Given the description of an element on the screen output the (x, y) to click on. 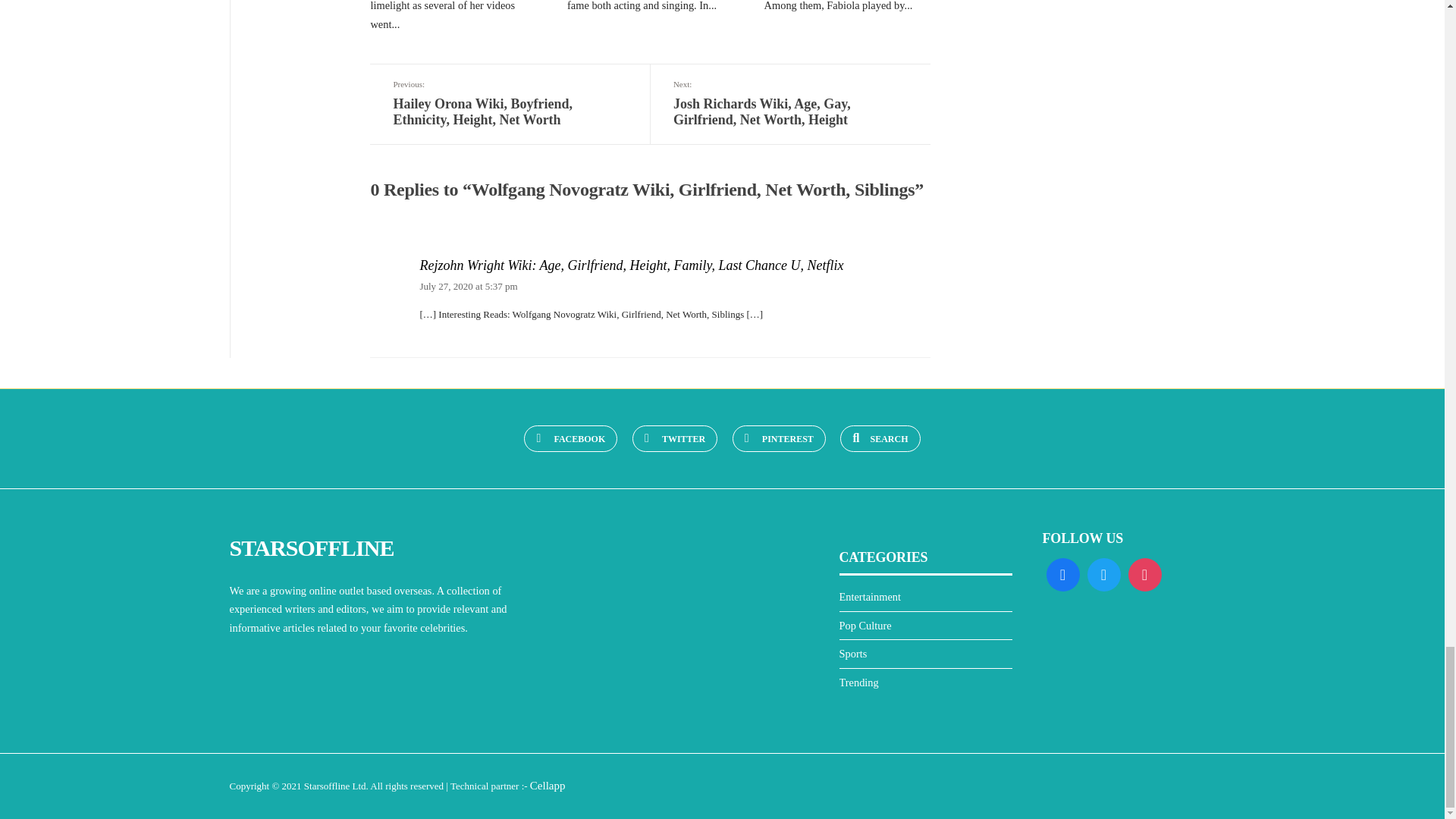
Pinterest (778, 438)
